Given the description of an element on the screen output the (x, y) to click on. 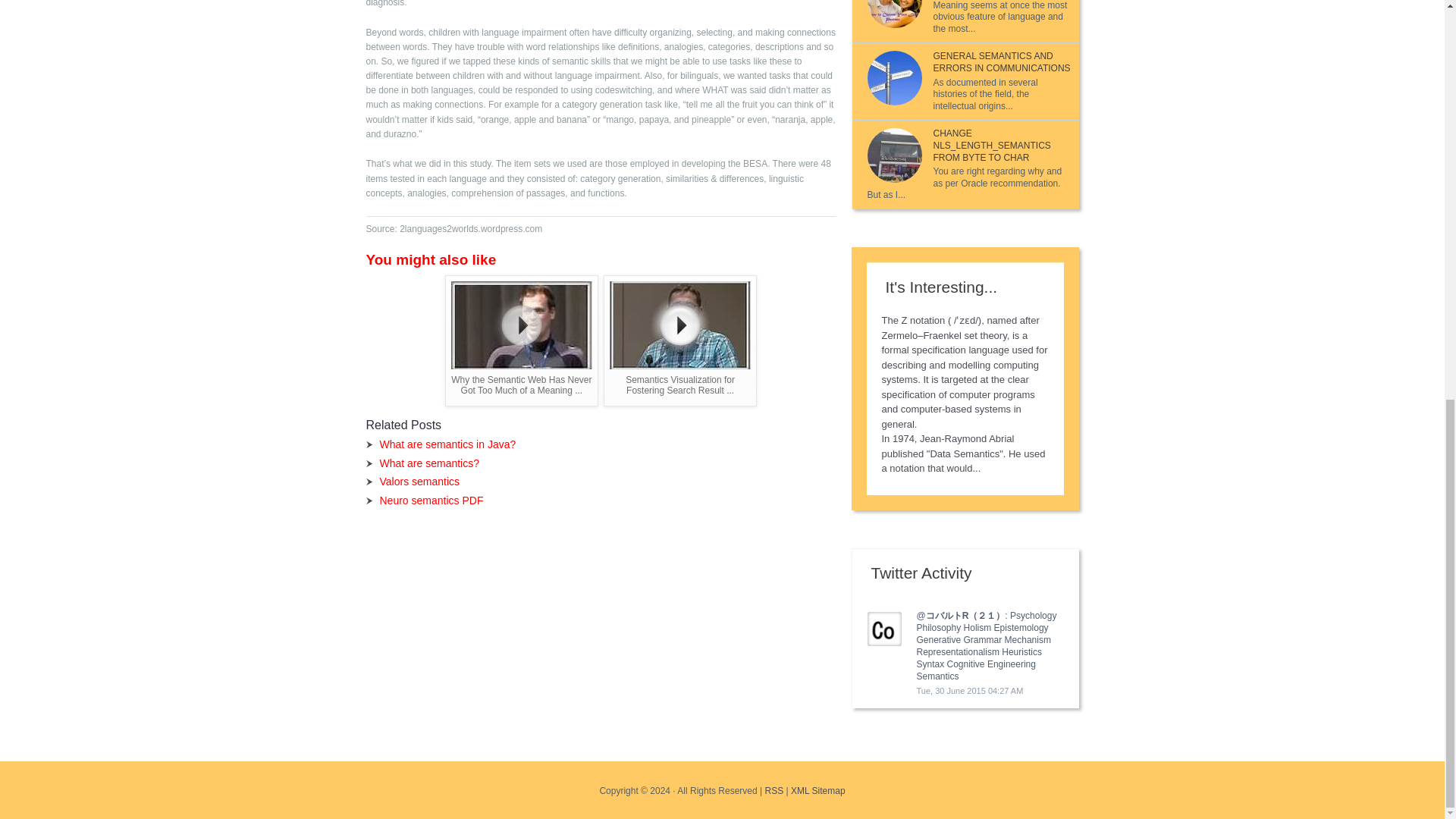
XML Sitemap (817, 790)
Valors semantics (419, 481)
RSS (773, 790)
View this video from VideoLectures (680, 340)
GENERAL SEMANTICS AND ERRORS IN COMMUNICATIONS (1001, 61)
Neuro semantics PDF (430, 500)
What are semantics in Java? (446, 444)
What are semantics? (428, 463)
View this video from VideoLectures (521, 340)
